Given the description of an element on the screen output the (x, y) to click on. 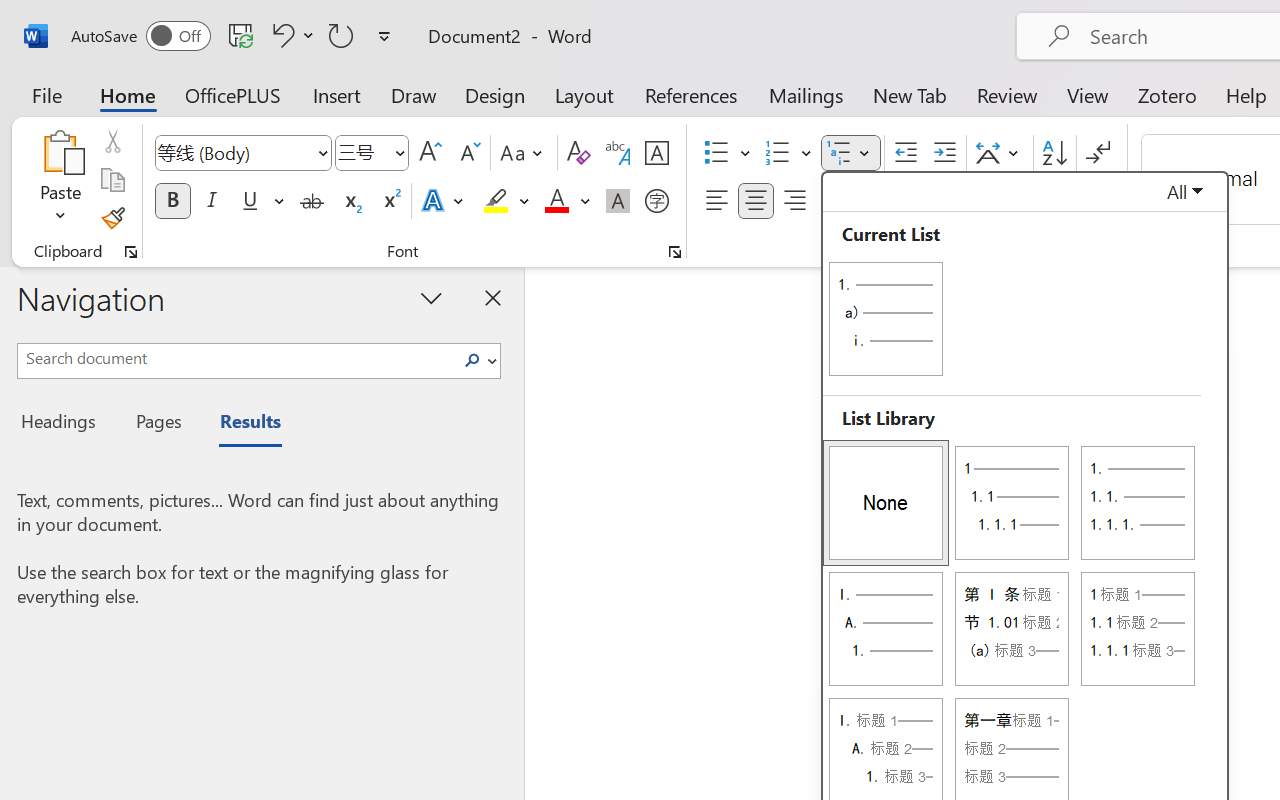
Font Color Red (556, 201)
Insert (337, 94)
Subscript (350, 201)
New Tab (909, 94)
Grow Font (430, 153)
Search (478, 360)
Decrease Indent (906, 153)
Cut (112, 141)
Layout (584, 94)
Search (471, 360)
Asian Layout (1000, 153)
Quick Access Toolbar (233, 36)
Customize Quick Access Toolbar (384, 35)
